Given the description of an element on the screen output the (x, y) to click on. 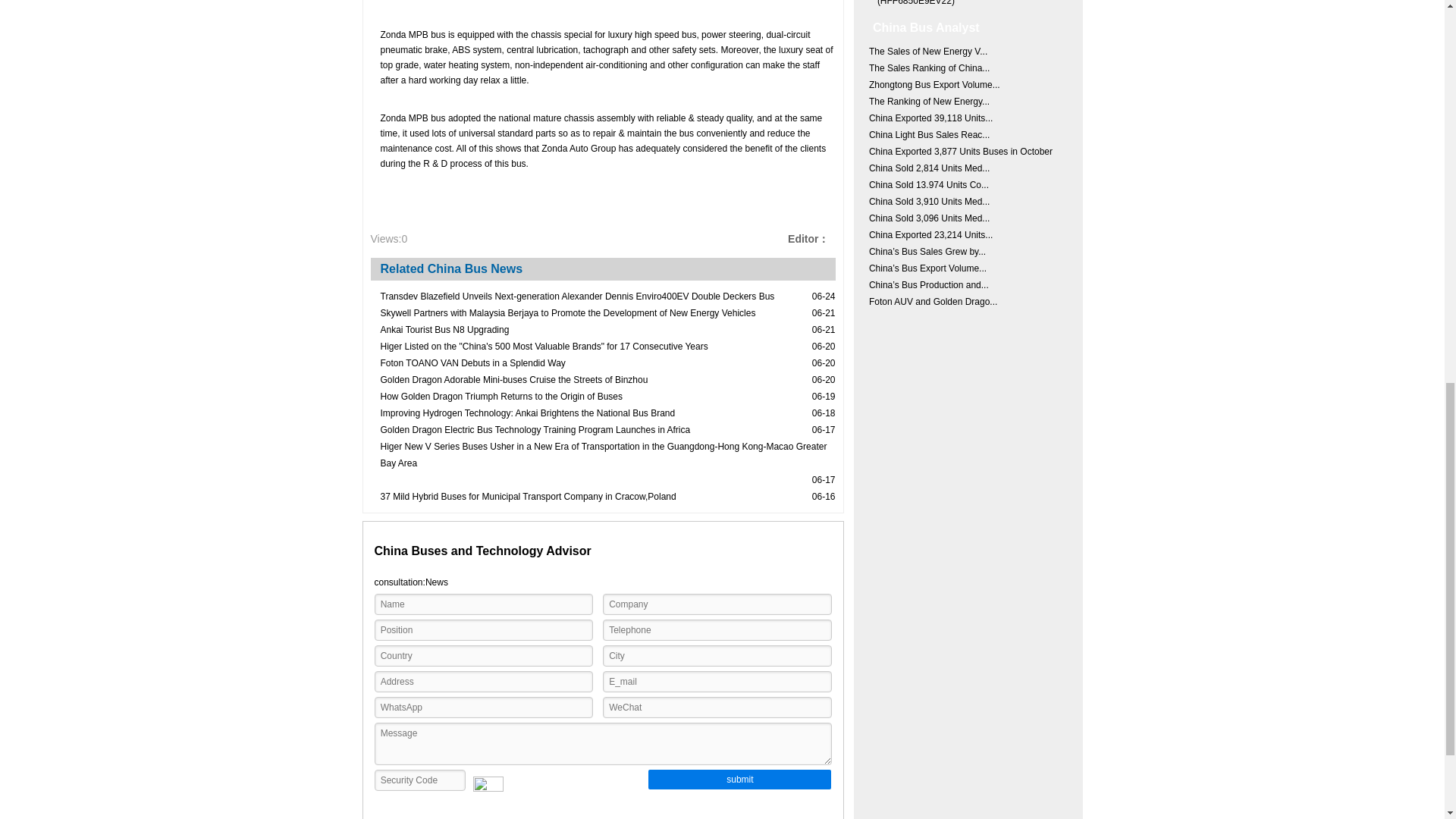
Foton TOANO VAN Debuts in a Splendid Way (473, 362)
Ankai Tourist Bus N8 Upgrading (444, 329)
Foton TOANO VAN Debuts in a Splendid Way (473, 362)
submit (739, 779)
Higer Listed on the  (543, 346)
